Given the description of an element on the screen output the (x, y) to click on. 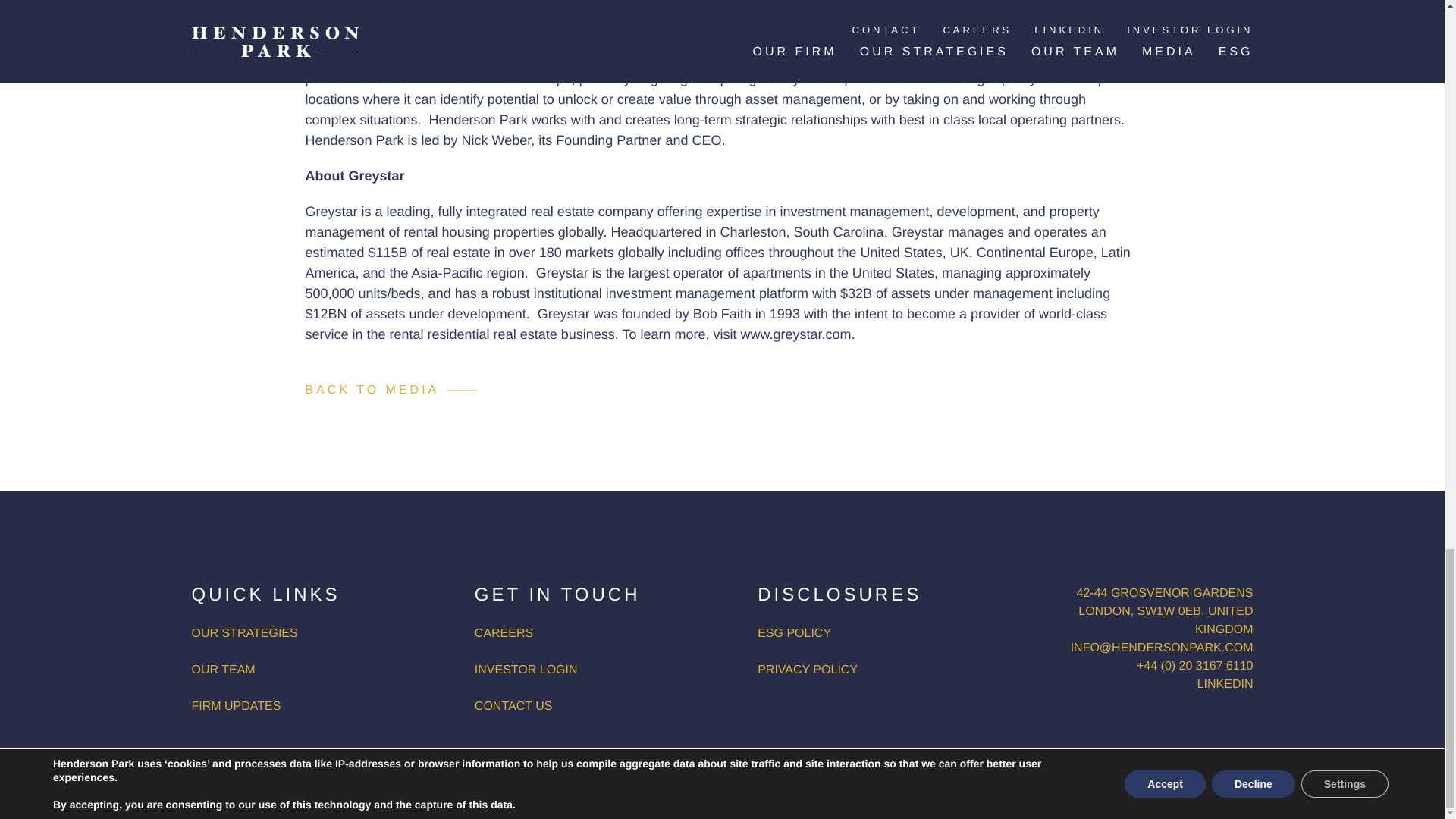
www.greystar.com (794, 334)
CAREERS (503, 633)
ESG POLICY (794, 633)
FIRM UPDATES (235, 706)
COVID-19 (1014, 771)
CONTACT US (513, 706)
OUR STRATEGIES (243, 633)
TERMS OF USE (1206, 771)
BACK TO MEDIA (390, 390)
PRIVACY POLICY (1102, 771)
